Given the description of an element on the screen output the (x, y) to click on. 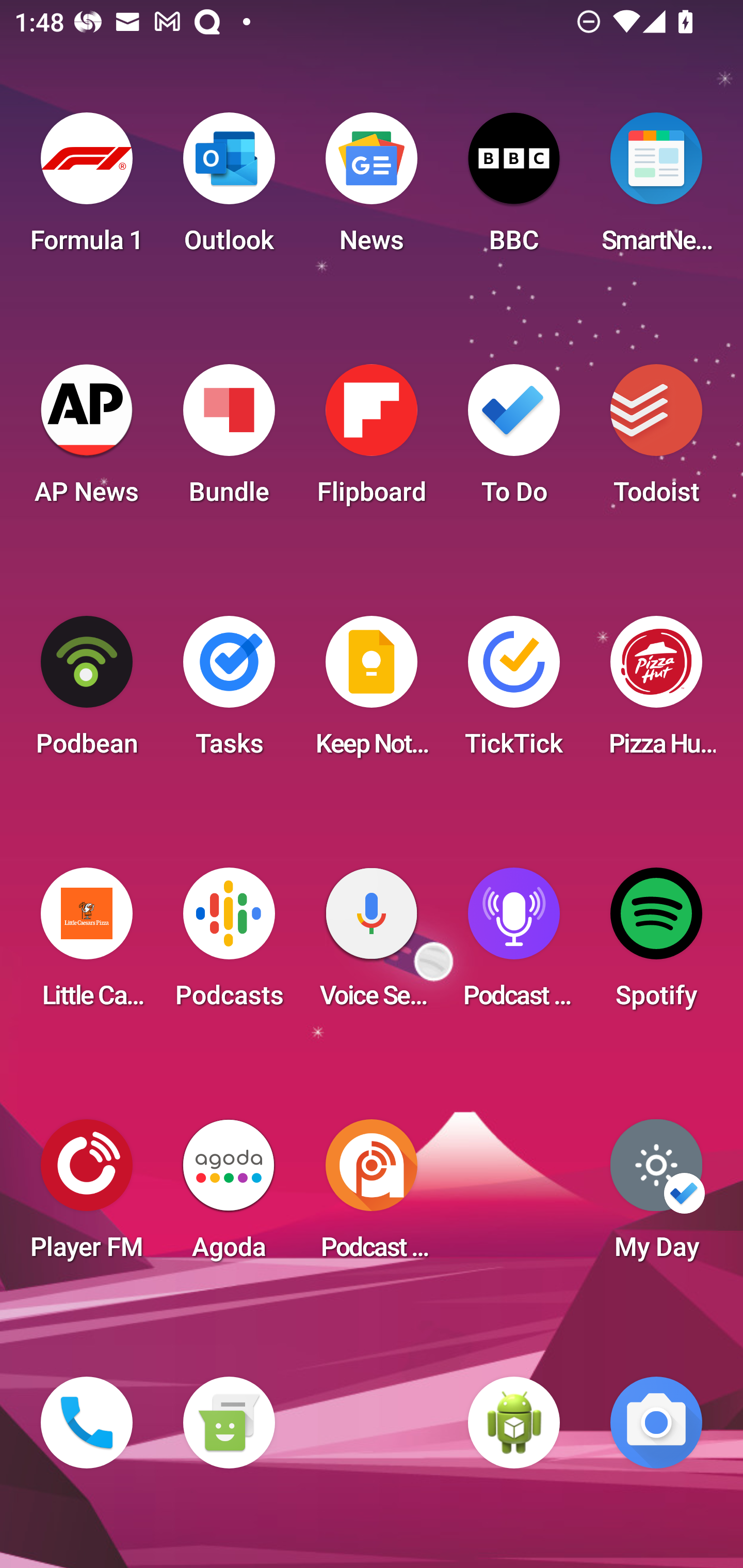
Formula 1 (86, 188)
Outlook (228, 188)
News (371, 188)
BBC (513, 188)
SmartNews (656, 188)
AP News (86, 440)
Bundle (228, 440)
Flipboard (371, 440)
To Do (513, 440)
Todoist (656, 440)
Podbean (86, 692)
Tasks (228, 692)
Keep Notes (371, 692)
TickTick (513, 692)
Pizza Hut HK & Macau (656, 692)
Little Caesars Pizza (86, 943)
Podcasts (228, 943)
Voice Search (371, 943)
Podcast Player (513, 943)
Spotify (656, 943)
Player FM (86, 1195)
Agoda (228, 1195)
Podcast Addict (371, 1195)
My Day (656, 1195)
Phone (86, 1422)
Messaging (228, 1422)
WebView Browser Tester (513, 1422)
Camera (656, 1422)
